Given the description of an element on the screen output the (x, y) to click on. 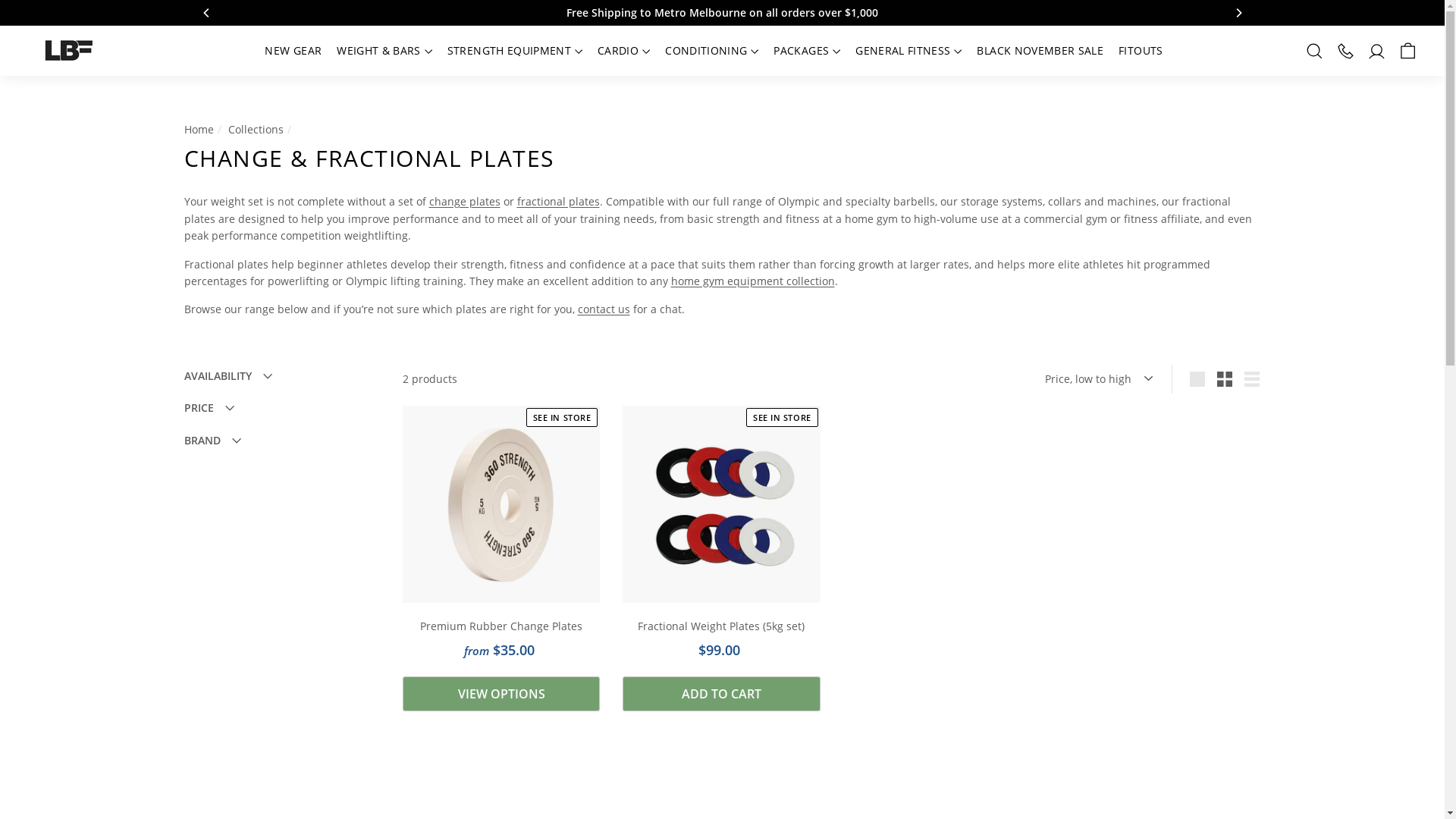
CARDIO Element type: text (623, 50)
PHONE Element type: text (1345, 50)
BLACK NOVEMBER SALE Element type: text (1039, 50)
AVAILABILITY Element type: text (280, 379)
GENERAL FITNESS Element type: text (908, 50)
BRAND Element type: text (280, 444)
FITOUTS Element type: text (1140, 50)
List Element type: text (1251, 379)
SEARCH Element type: text (1314, 50)
PRICE Element type: text (280, 411)
PACKAGES Element type: text (806, 50)
change plates Element type: text (464, 201)
NEW GEAR Element type: text (293, 50)
VIEW OPTIONS Element type: text (500, 694)
home gym equipment collection Element type: text (752, 280)
CONDITIONING Element type: text (711, 50)
fractional plates Element type: text (558, 201)
ACCOUNT Element type: text (1376, 50)
ADD TO CART Element type: text (720, 694)
SEE IN STORE
Premium Rubber Change Plates
from $35.00
$35.00 Element type: text (500, 540)
Large Element type: text (1197, 379)
Home Element type: text (198, 129)
Collections Element type: text (254, 129)
Small Element type: text (1224, 379)
SEE IN STORE
Fractional Weight Plates (5kg set)
$99.00 Element type: text (720, 540)
STRENGTH EQUIPMENT Element type: text (514, 50)
contact us Element type: text (603, 308)
WEIGHT & BARS Element type: text (384, 50)
